Given the description of an element on the screen output the (x, y) to click on. 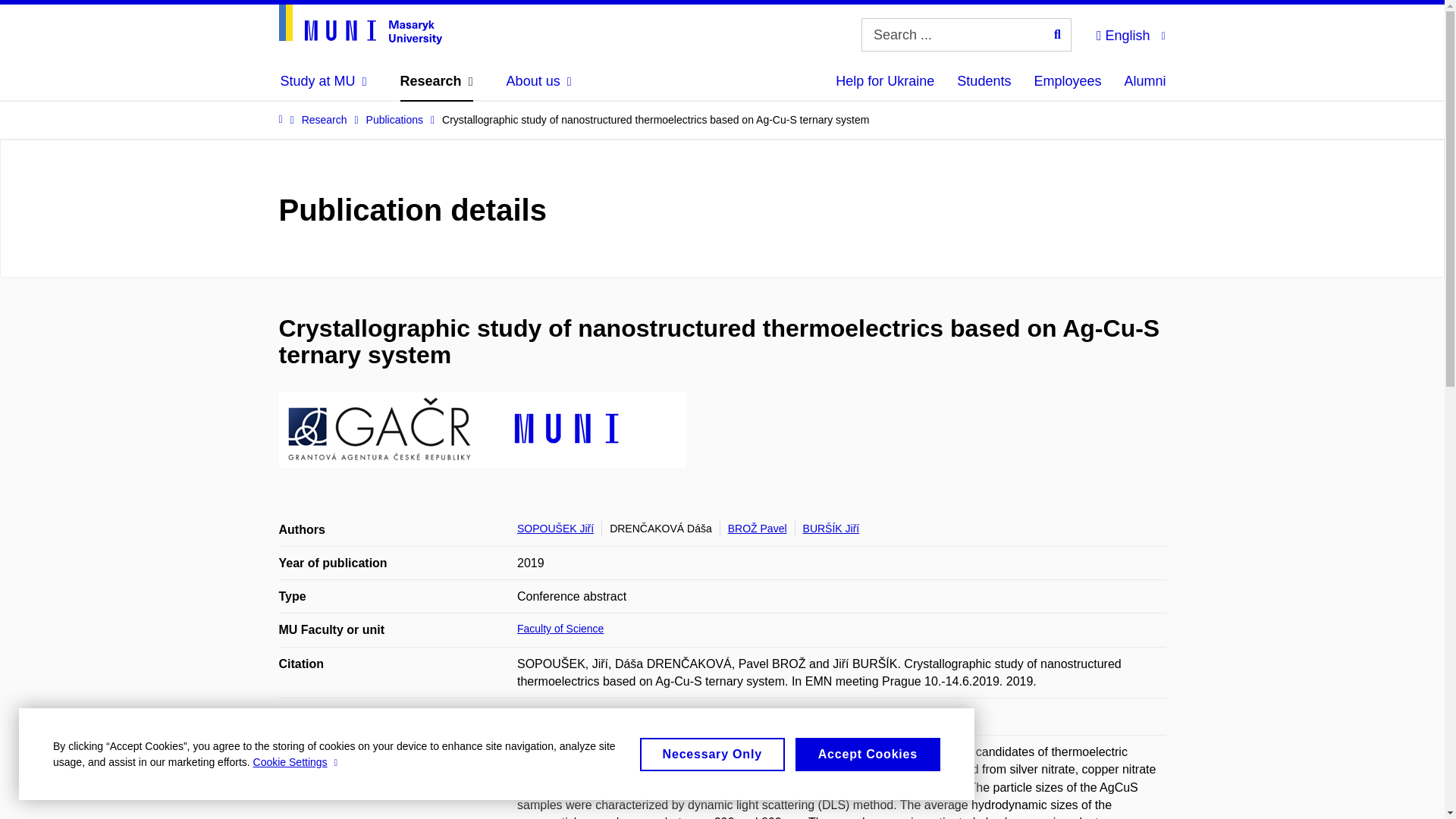
Homepage site (360, 24)
English (1130, 34)
Research (436, 80)
Study at MU (323, 80)
